Given the description of an element on the screen output the (x, y) to click on. 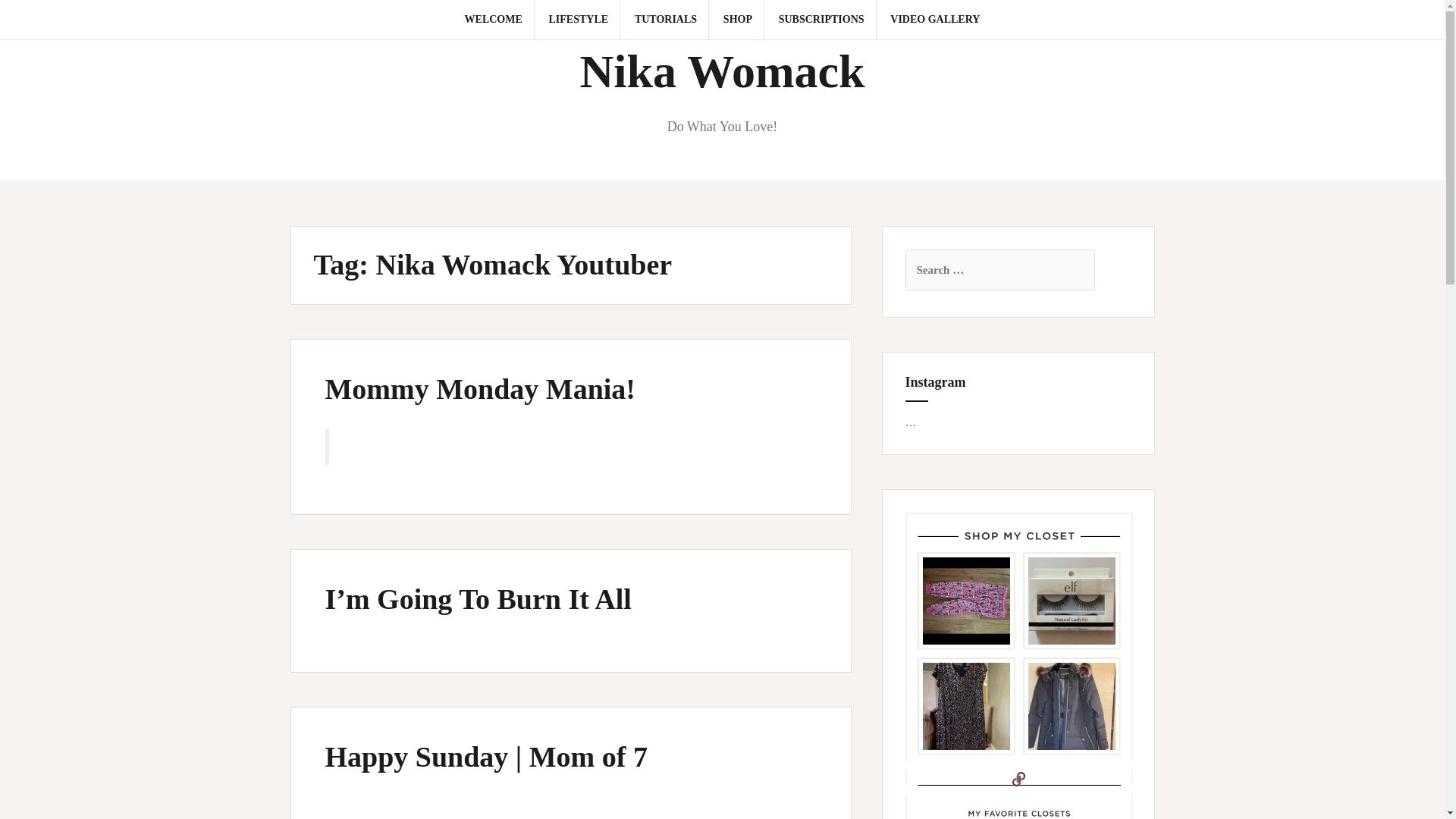
WELCOME (493, 19)
VIDEO GALLERY (934, 19)
Nika Womack (721, 71)
SHOP (737, 19)
LIFESTYLE (578, 19)
Search (28, 20)
SUBSCRIPTIONS (821, 19)
Mommy Monday Mania! (479, 388)
TUTORIALS (665, 19)
